Given the description of an element on the screen output the (x, y) to click on. 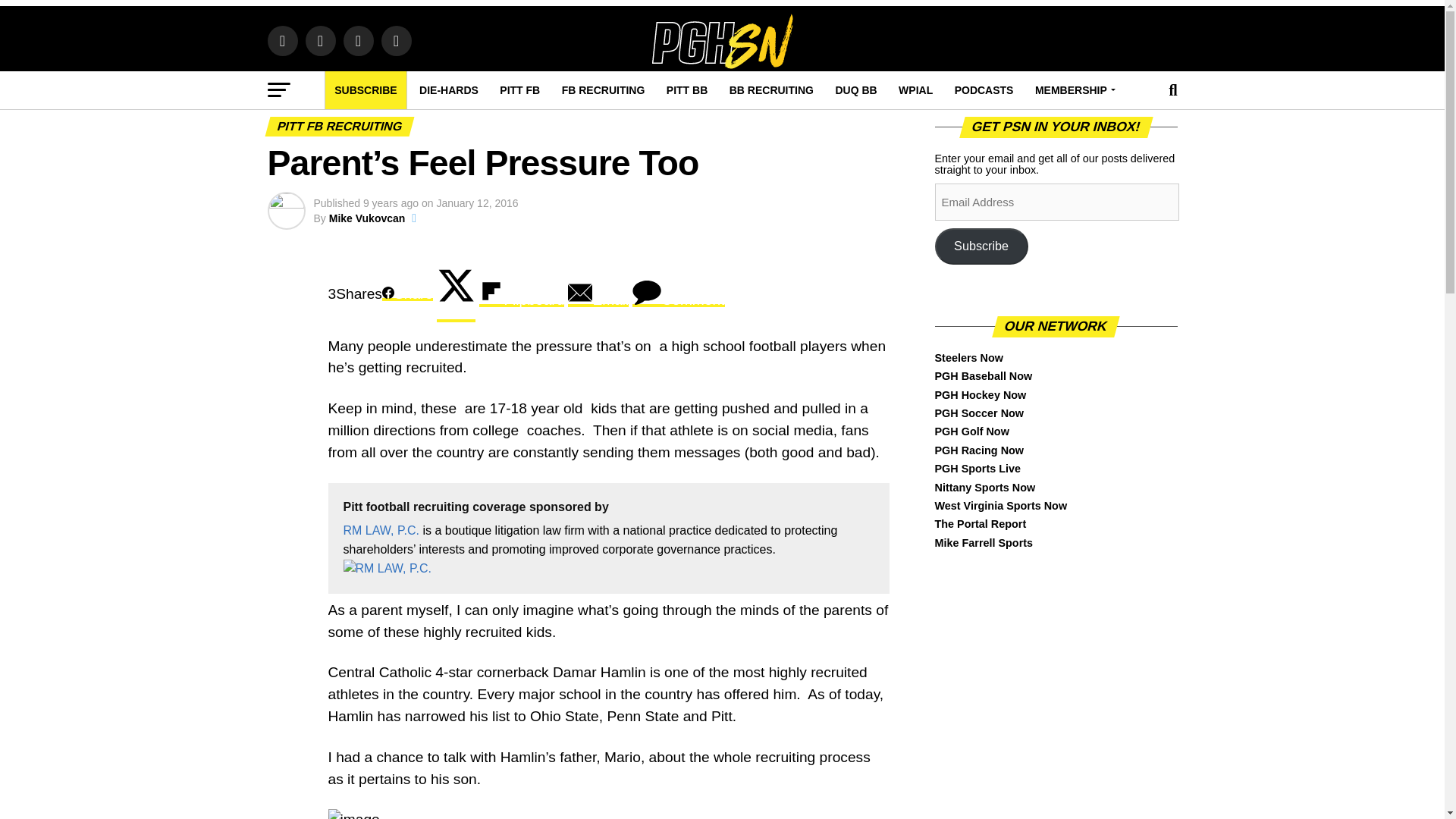
Share on Share (406, 293)
Share on Comment (677, 293)
Share on Email (597, 293)
Posts by Mike Vukovcan (367, 218)
Share on Flipboard (521, 293)
